Given the description of an element on the screen output the (x, y) to click on. 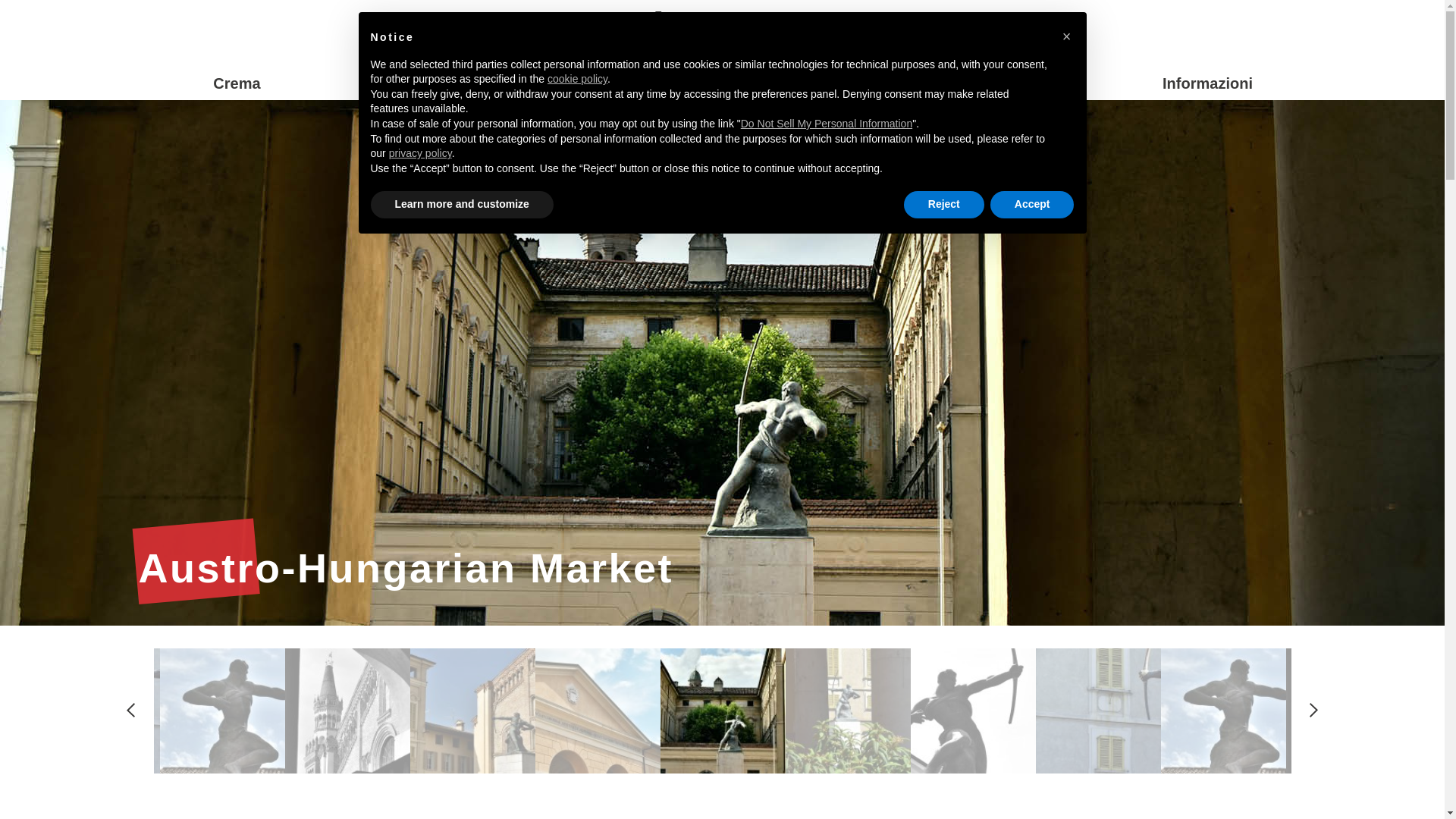
Crema (236, 83)
Focus (964, 83)
Territorio cremasco (478, 83)
Informazioni (1206, 83)
Previous (130, 710)
Eventi (721, 83)
Next (1313, 710)
